Given the description of an element on the screen output the (x, y) to click on. 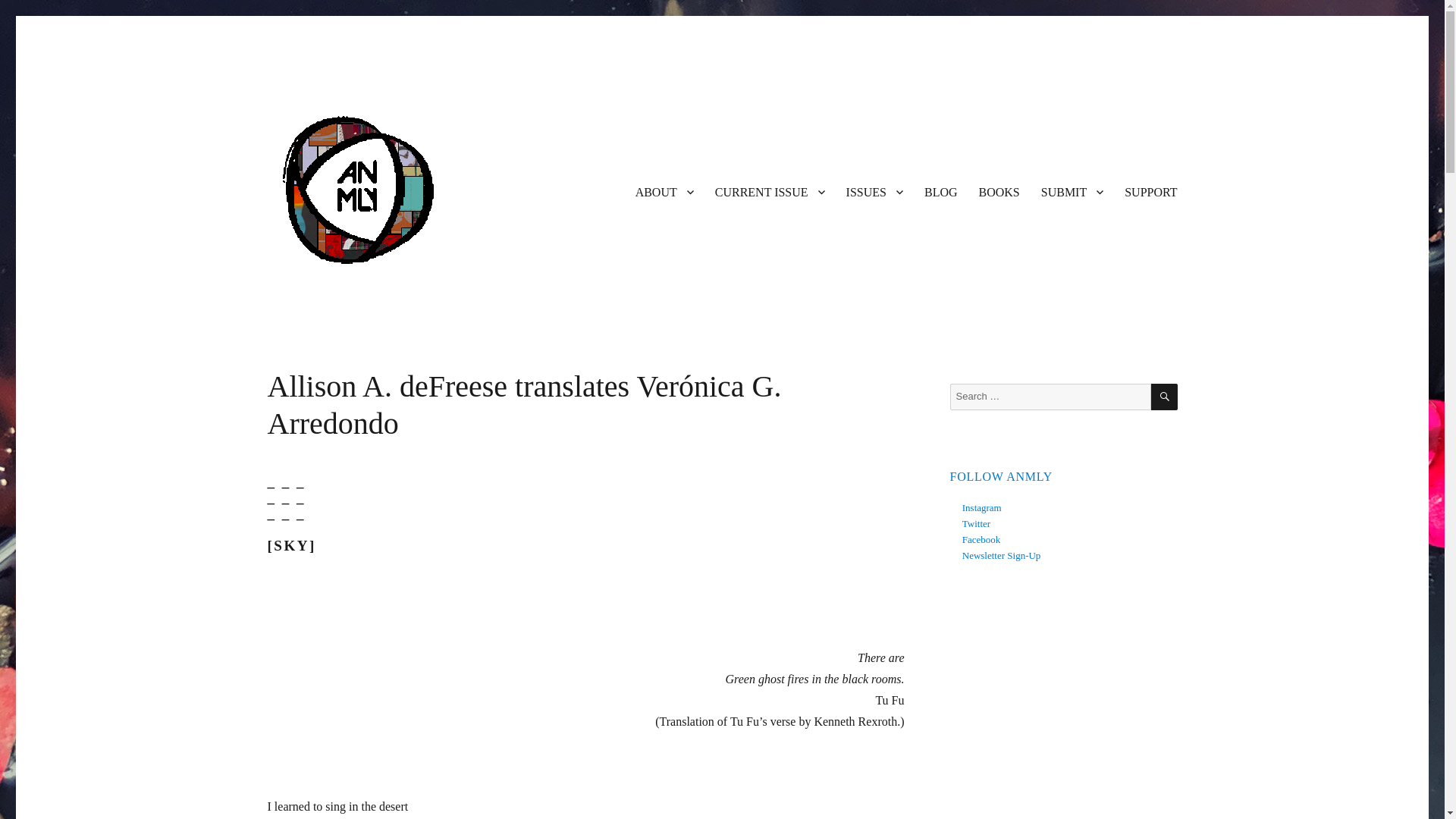
BOOKS (999, 192)
ANMLY (304, 306)
SUBMIT (1071, 192)
CURRENT ISSUE (769, 192)
SUPPORT (1150, 192)
ISSUES (874, 192)
BLOG (941, 192)
ABOUT (664, 192)
